Given the description of an element on the screen output the (x, y) to click on. 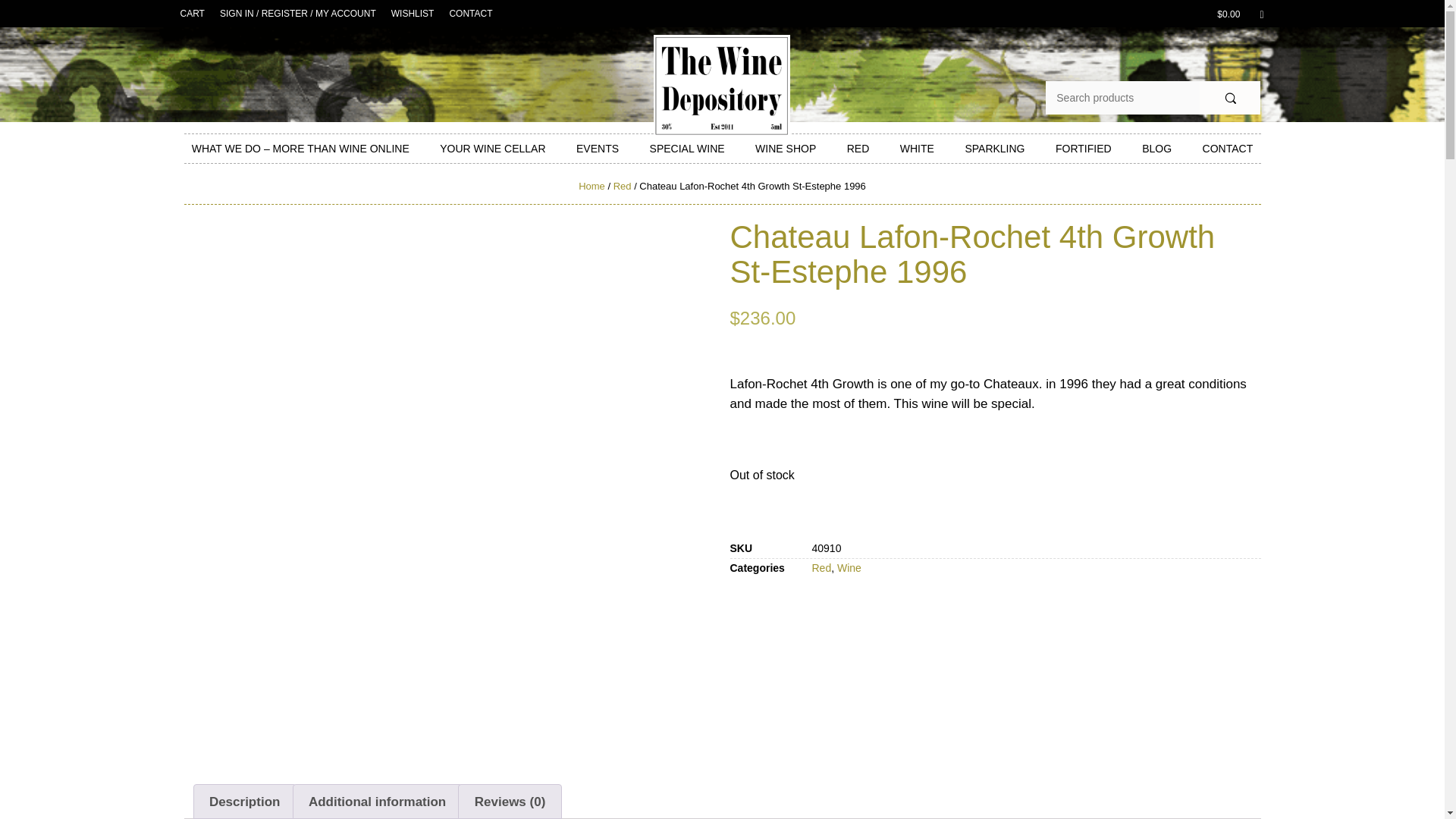
CONTACT (470, 13)
YOUR WINE CELLAR (492, 148)
EVENTS (598, 148)
CART (192, 13)
Search (1229, 97)
Search products (1122, 97)
SPECIAL WINE (687, 148)
Search (1229, 97)
WISHLIST (412, 13)
